Given the description of an element on the screen output the (x, y) to click on. 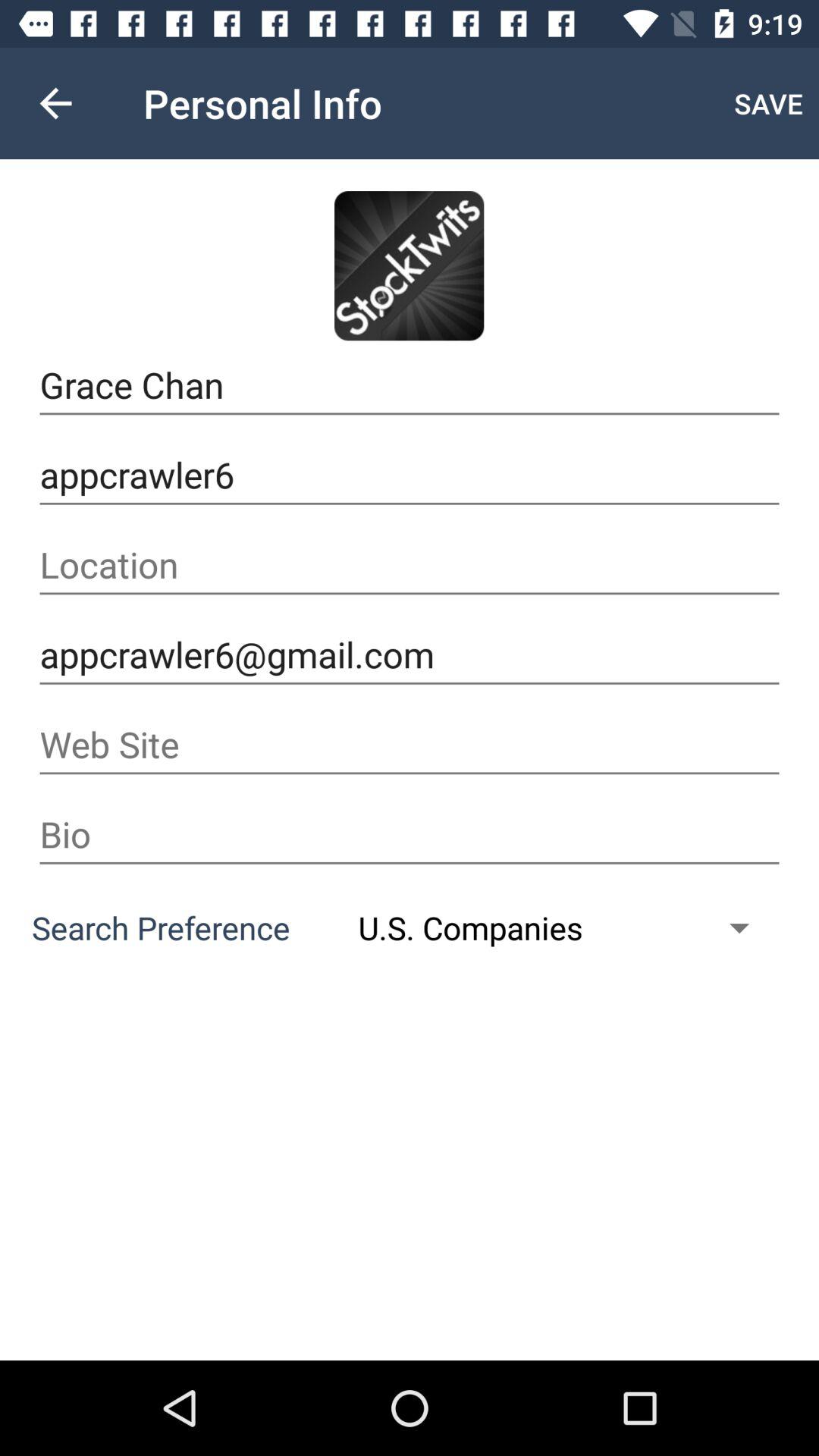
turn on the save icon (768, 103)
